Given the description of an element on the screen output the (x, y) to click on. 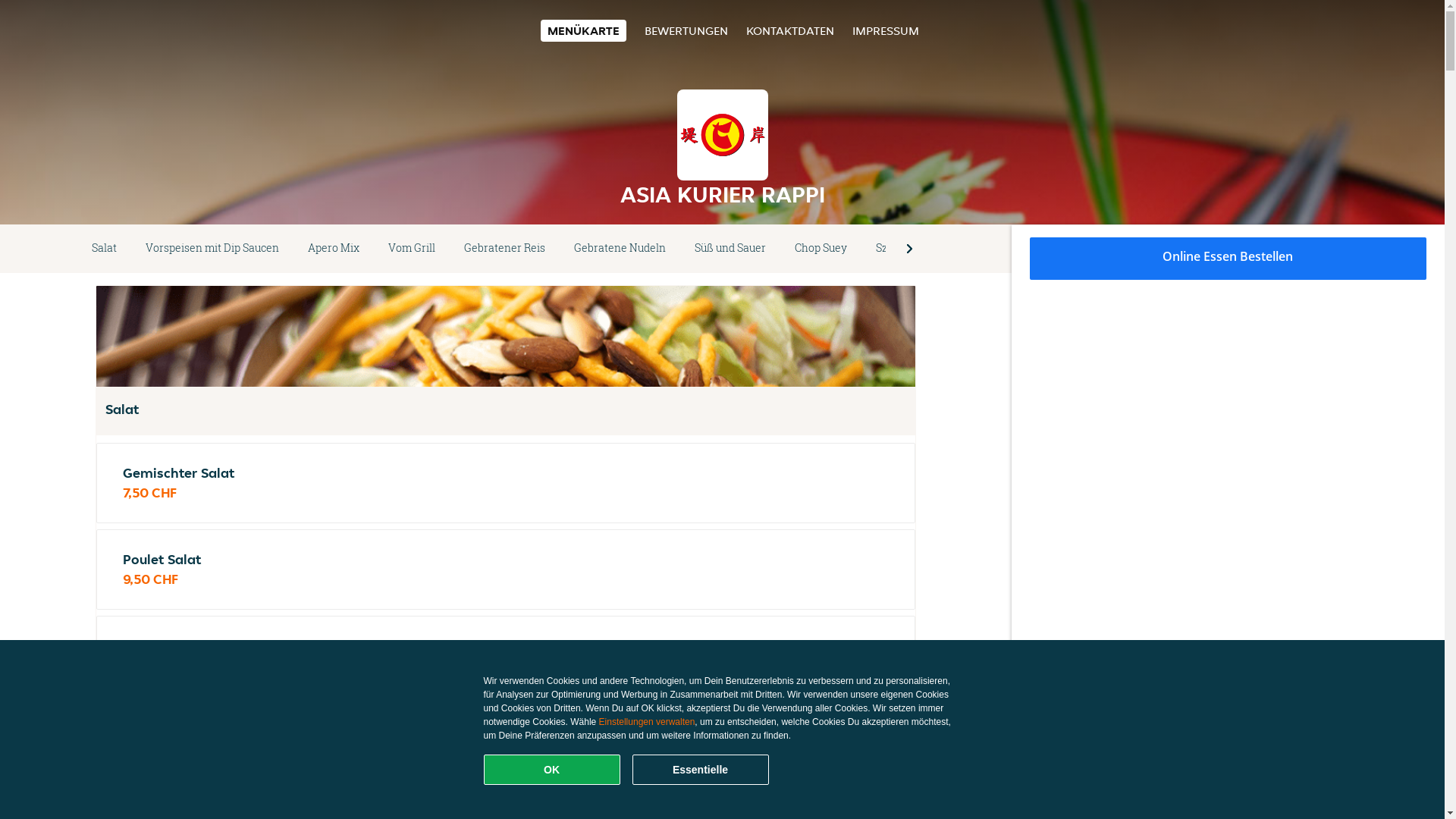
Gemischter Salat
7,50 CHF Element type: text (505, 482)
IMPRESSUM Element type: text (885, 30)
Salat Element type: text (104, 248)
Einstellungen verwalten Element type: text (647, 721)
OK Element type: text (551, 769)
Vom Grill Element type: text (411, 248)
Gebratene Nudeln Element type: text (619, 248)
Poulet Salat
9,50 CHF Element type: text (505, 569)
KONTAKTDATEN Element type: text (790, 30)
Gebratener Reis Element type: text (504, 248)
Apero Mix Element type: text (333, 248)
Online Essen Bestellen Element type: text (1228, 258)
Crevetten Salat
13,50 CHF Element type: text (505, 655)
Szechuan Element type: text (899, 248)
Chop Suey Element type: text (820, 248)
Essentielle Element type: text (700, 769)
Vorspeisen mit Dip Saucen Element type: text (212, 248)
BEWERTUNGEN Element type: text (686, 30)
